Given the description of an element on the screen output the (x, y) to click on. 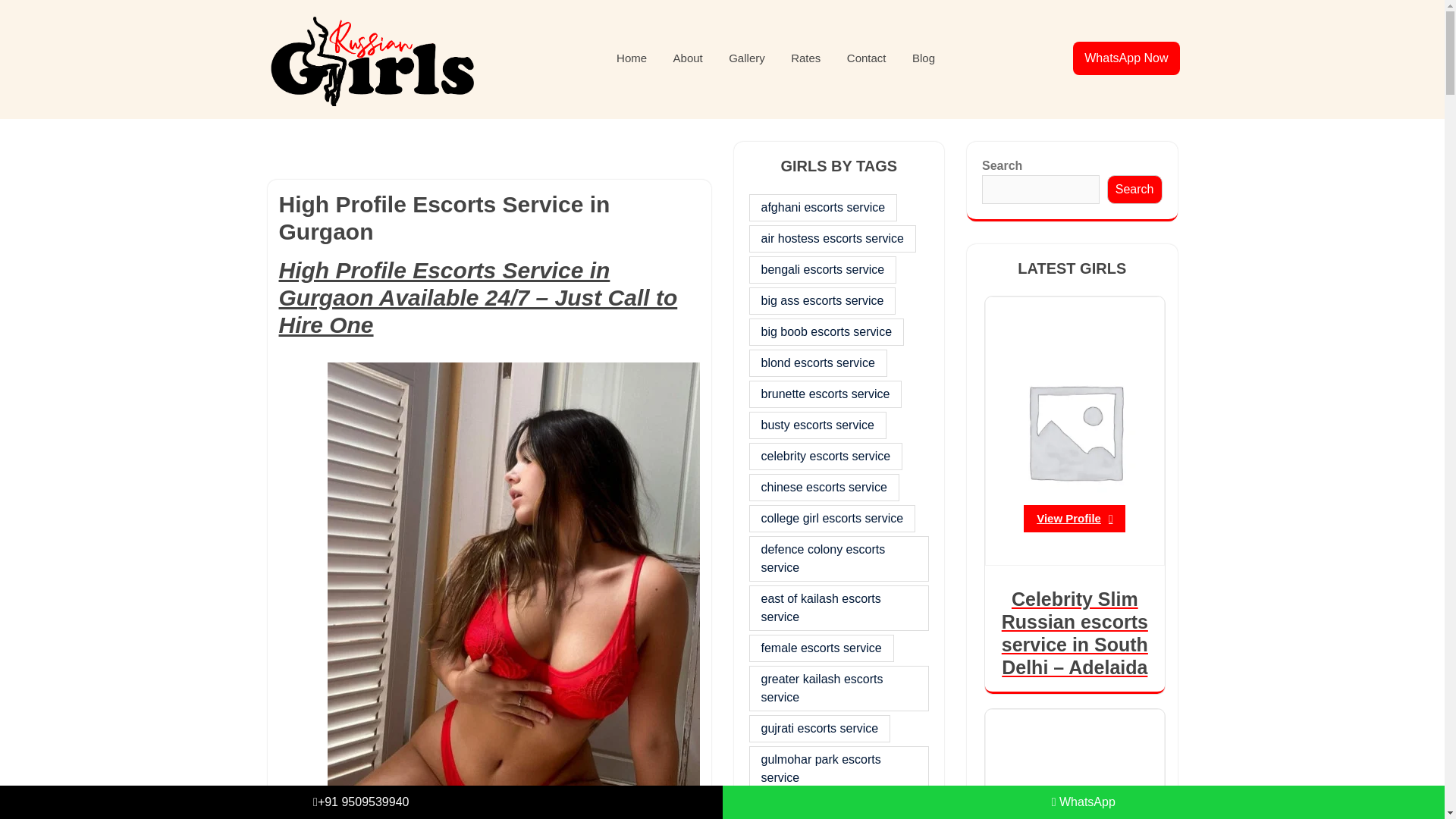
View Profile (1074, 519)
WhatsApp Now (1125, 57)
About (688, 58)
Gallery (746, 58)
Home (631, 58)
Search (1133, 189)
Blog (923, 58)
Contact (866, 58)
Rates (804, 58)
